Given the description of an element on the screen output the (x, y) to click on. 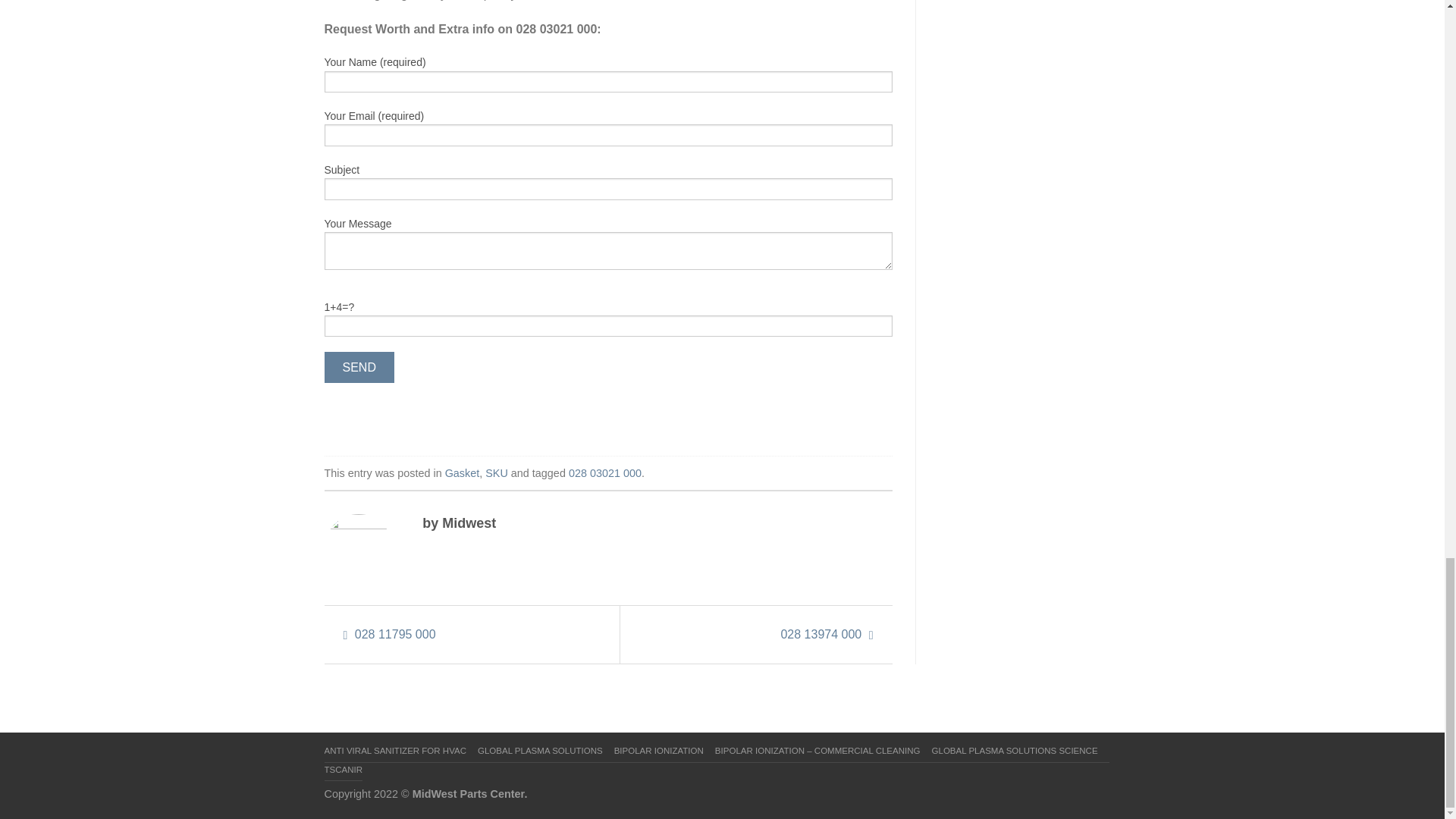
Send (359, 367)
